Given the description of an element on the screen output the (x, y) to click on. 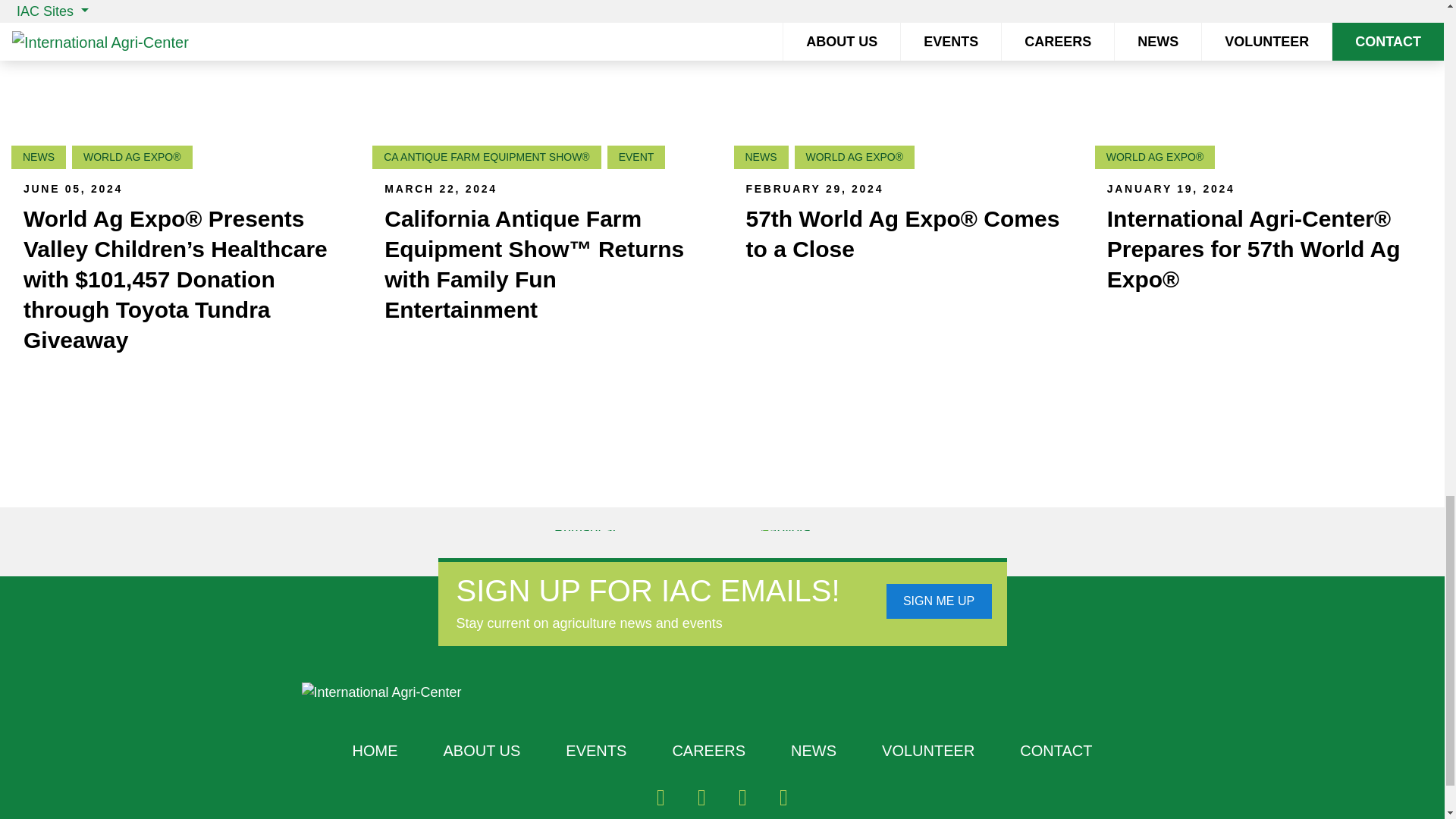
VOLUNTEER (928, 750)
CONTACT (1056, 750)
NEWS (38, 156)
EVENT (636, 156)
ABOUT US (481, 750)
SIGN ME UP (938, 601)
NEWS (761, 156)
EVENTS (596, 750)
HOME (374, 750)
NEWS (813, 750)
